Given the description of an element on the screen output the (x, y) to click on. 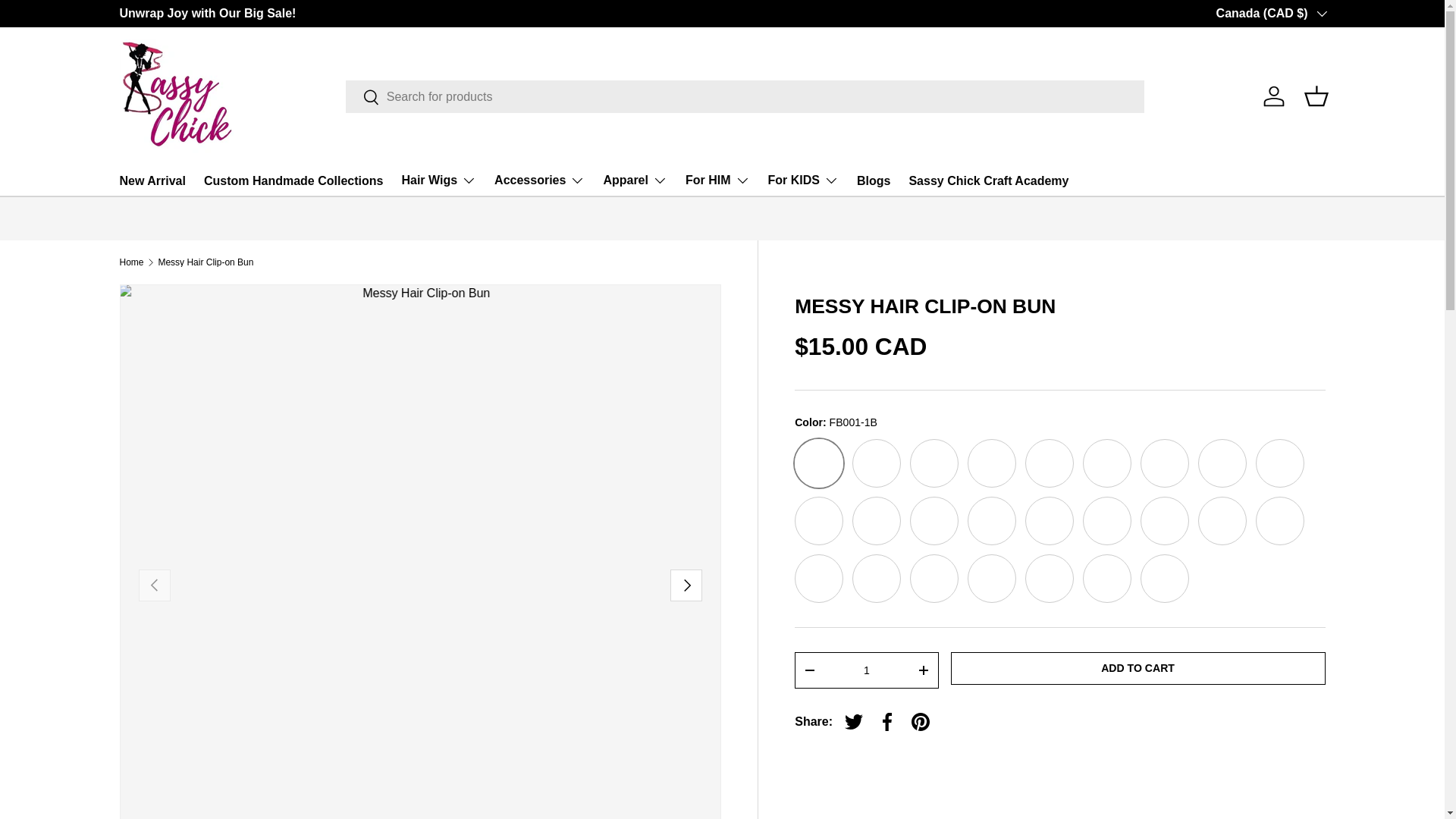
Accessories (540, 180)
Hair Wigs (438, 180)
Custom Handmade Collections (292, 180)
SKIP TO CONTENT (68, 21)
